Given the description of an element on the screen output the (x, y) to click on. 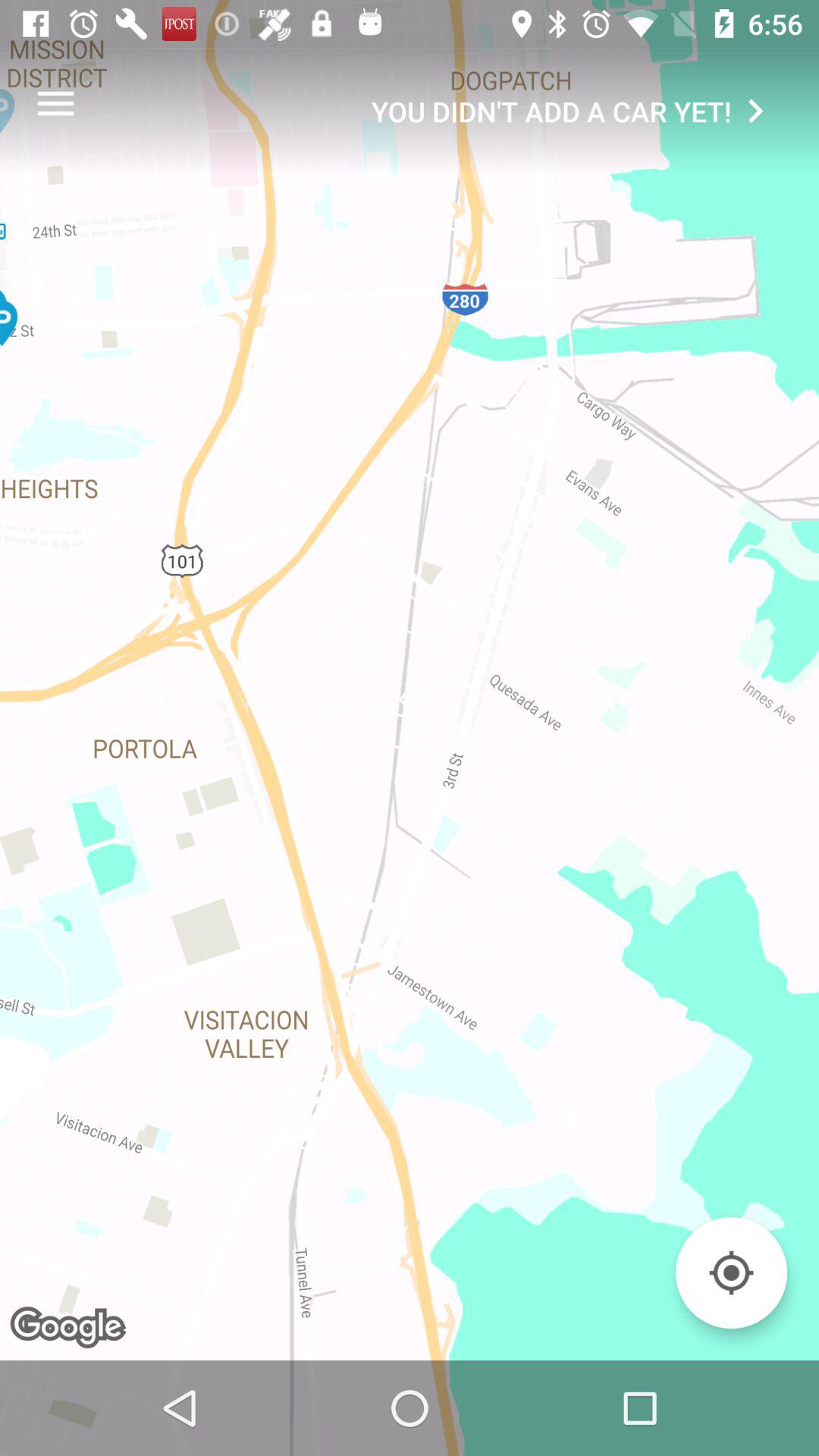
click the you didn t icon (575, 111)
